Given the description of an element on the screen output the (x, y) to click on. 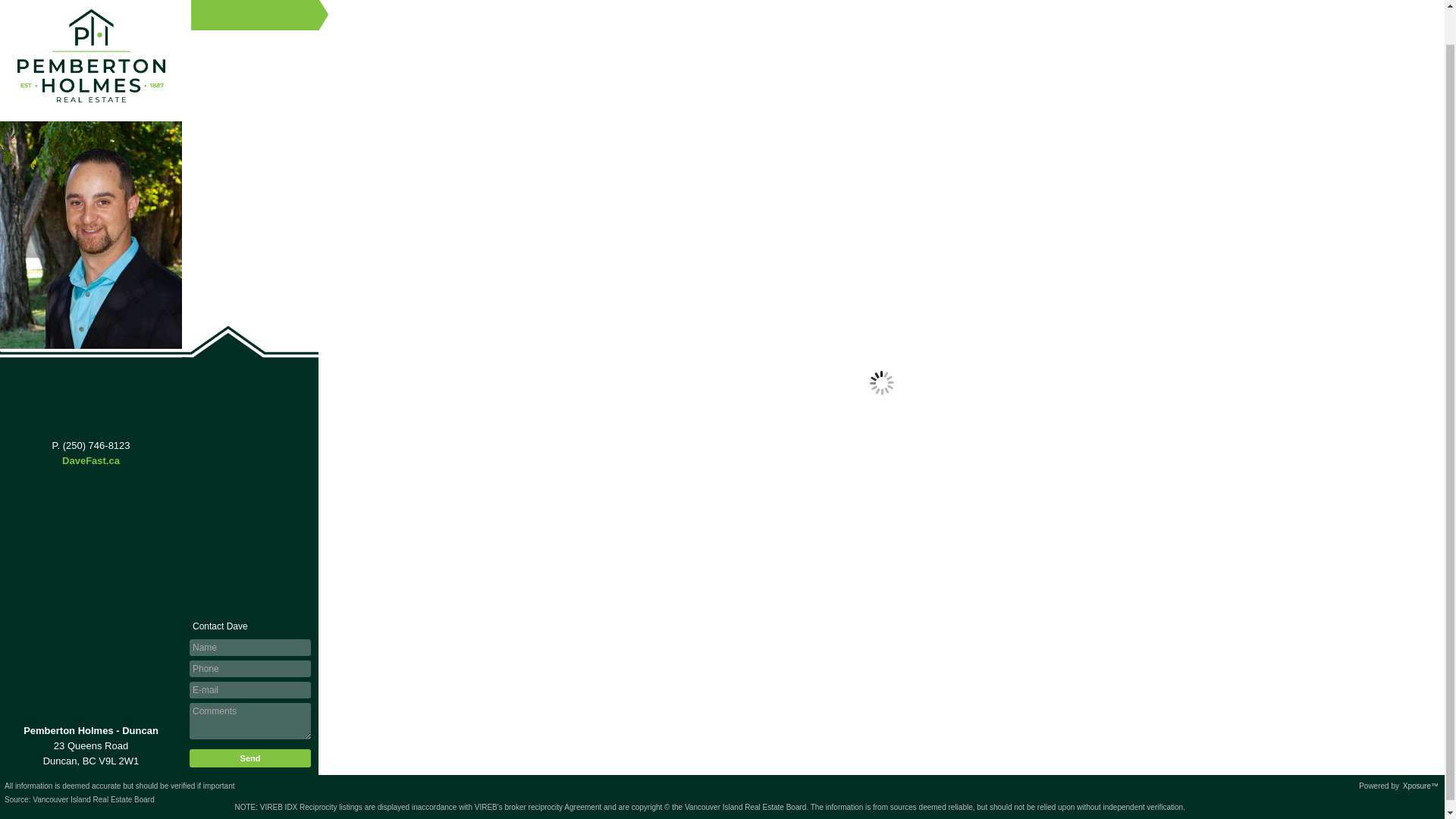
Send (250, 758)
Visit website.. (90, 460)
DaveFast.ca (90, 460)
